Given the description of an element on the screen output the (x, y) to click on. 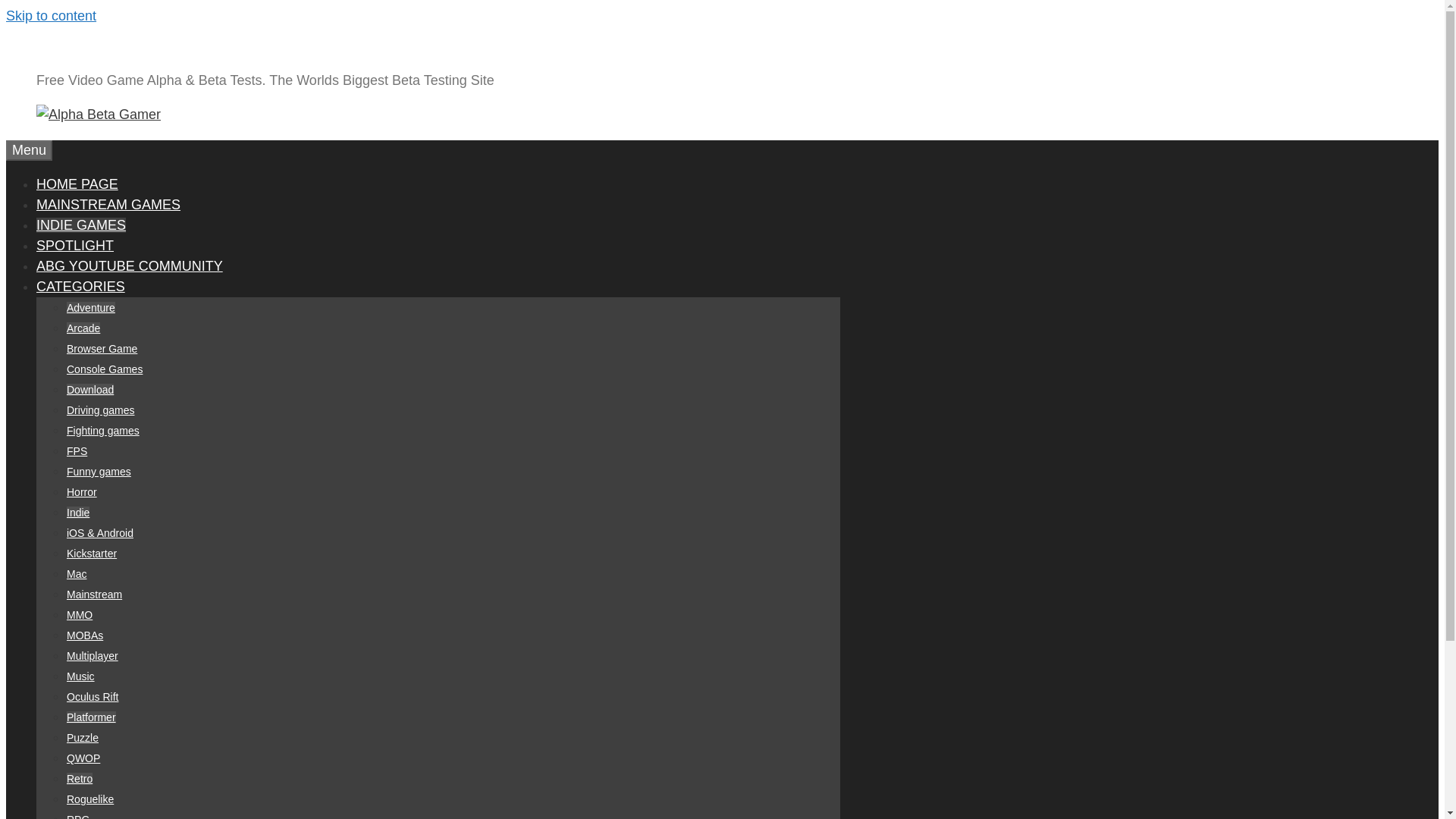
HOME PAGE (76, 183)
SPOTLIGHT (74, 245)
Driving games (99, 410)
Indie (77, 512)
Mainstream (94, 594)
Multiplayer (91, 655)
Menu (28, 150)
Horror (81, 491)
FPS (76, 451)
Fighting games (102, 430)
